Given the description of an element on the screen output the (x, y) to click on. 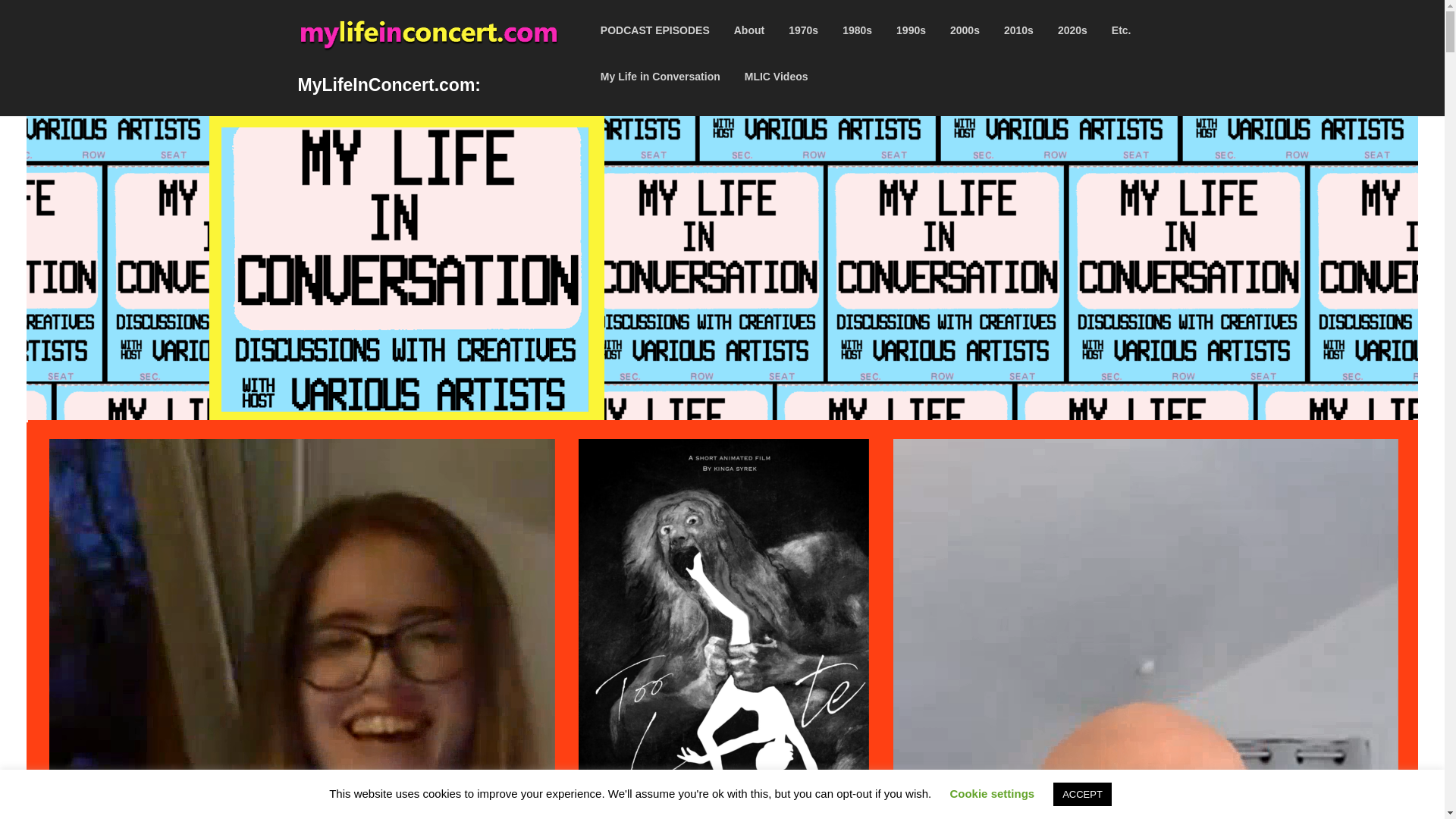
1990s (910, 30)
2020s (1072, 30)
MLIC Videos (776, 75)
About (749, 30)
My Life in Conversation (660, 75)
2000s (964, 30)
Etc. (1120, 30)
1970s (802, 30)
PODCAST EPISODES (655, 30)
1980s (856, 30)
